Given the description of an element on the screen output the (x, y) to click on. 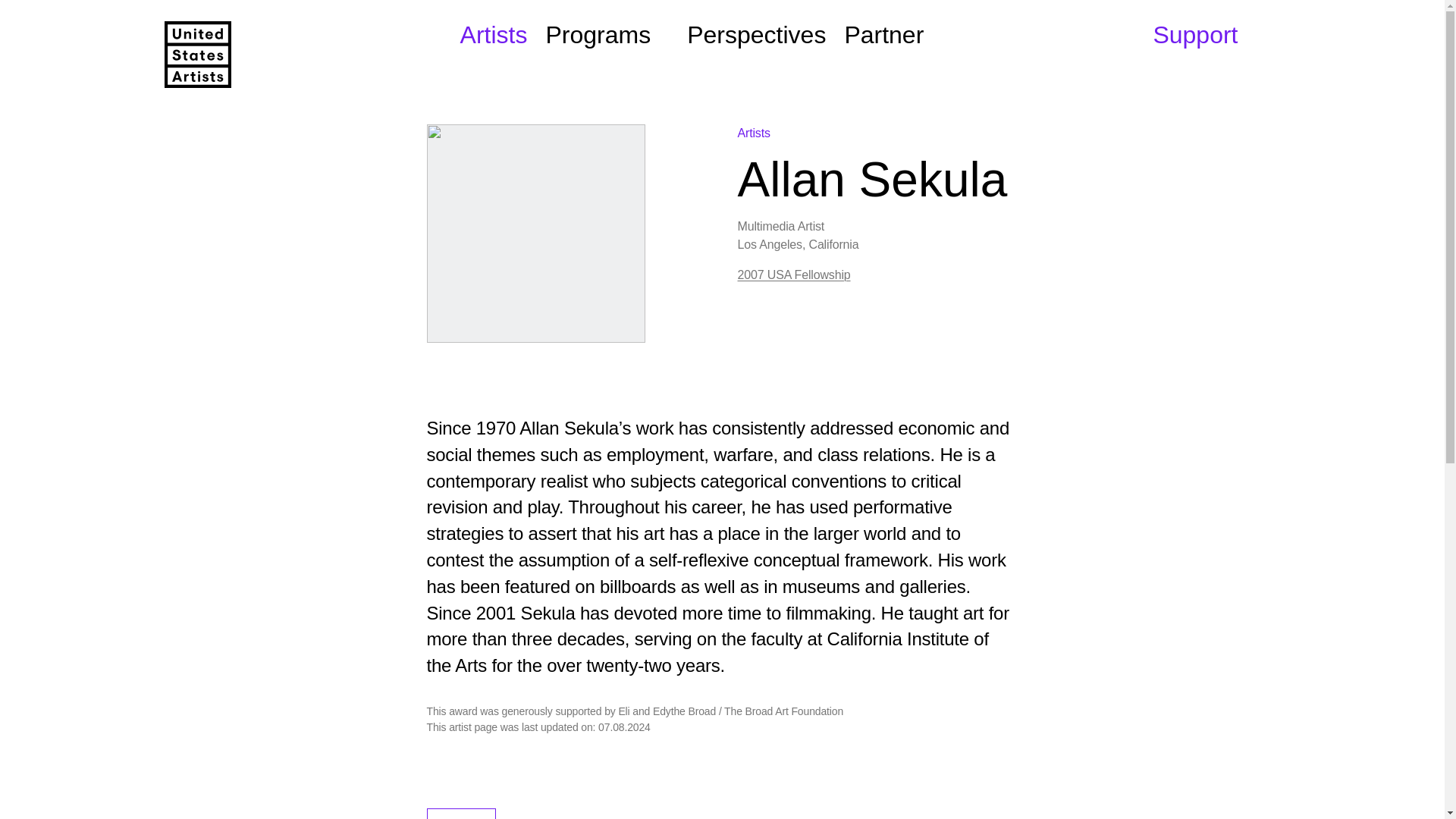
Artists (753, 133)
Visual Art (461, 813)
Programs (606, 35)
Partner (883, 35)
Perspectives (756, 35)
Artists (493, 35)
2007 USA Fellowship (793, 275)
United States Artists (196, 54)
Support (1195, 34)
